Given the description of an element on the screen output the (x, y) to click on. 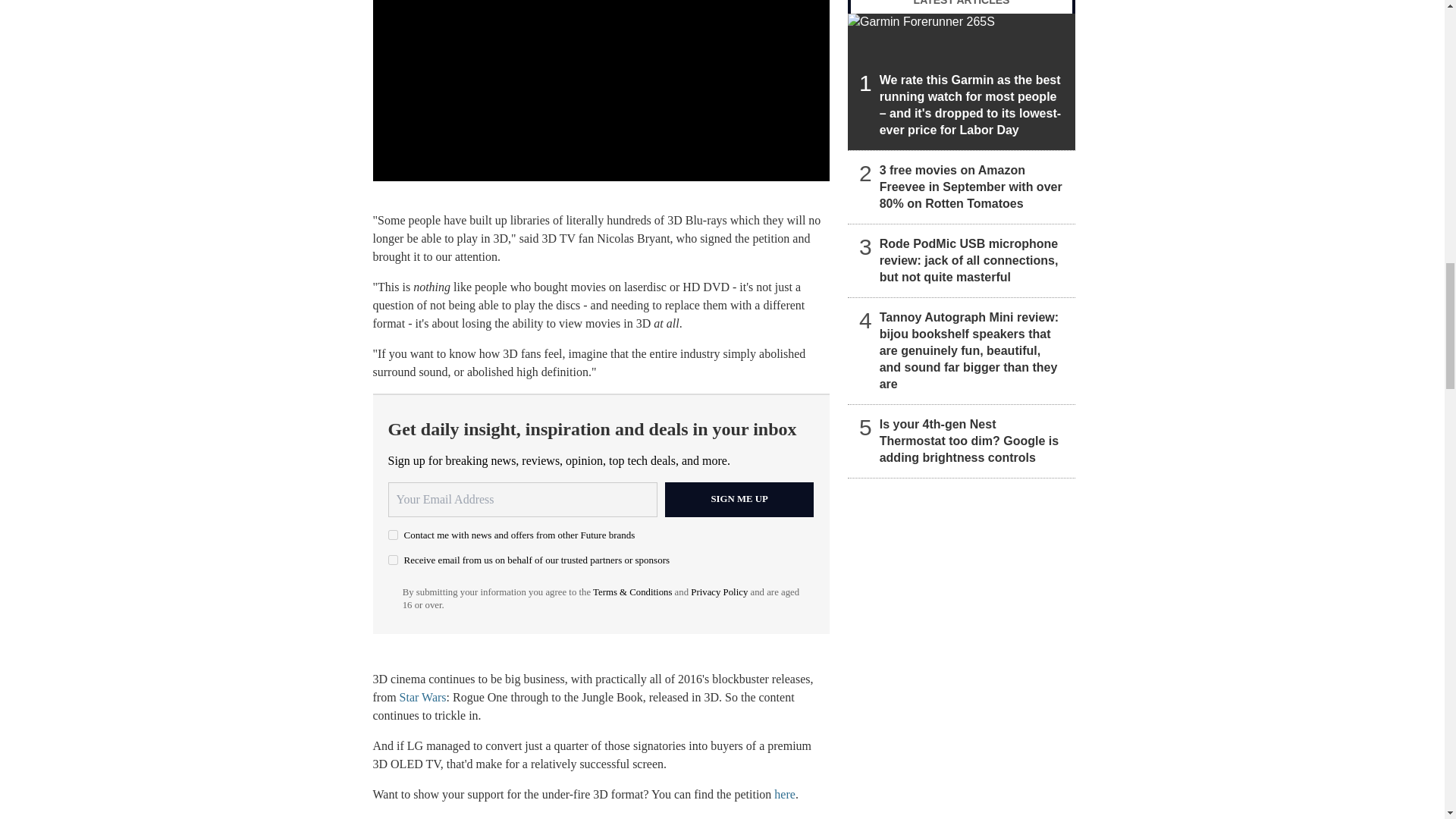
on (392, 560)
on (392, 534)
Sign me up (739, 499)
